Given the description of an element on the screen output the (x, y) to click on. 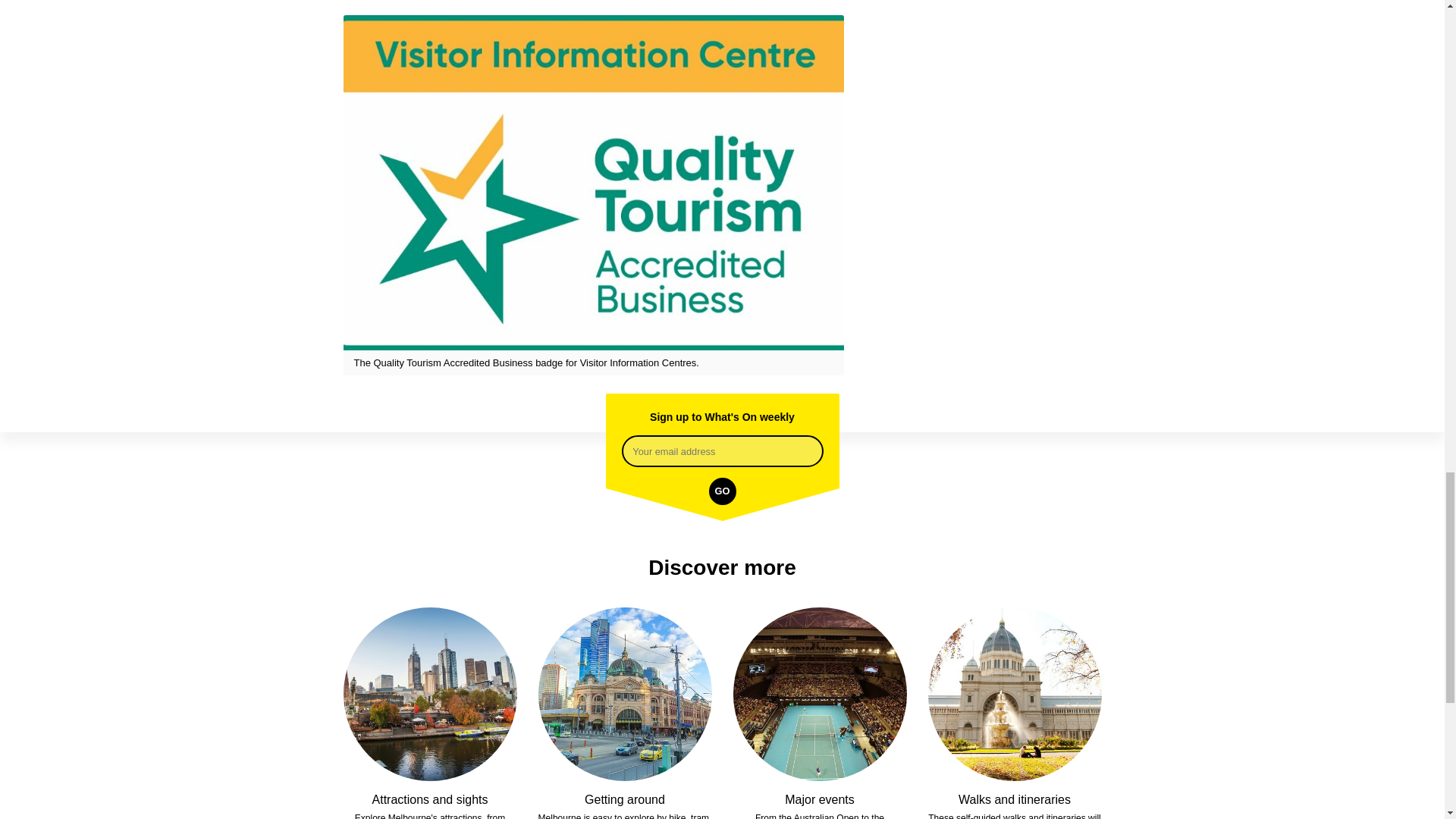
GO (721, 491)
